Given the description of an element on the screen output the (x, y) to click on. 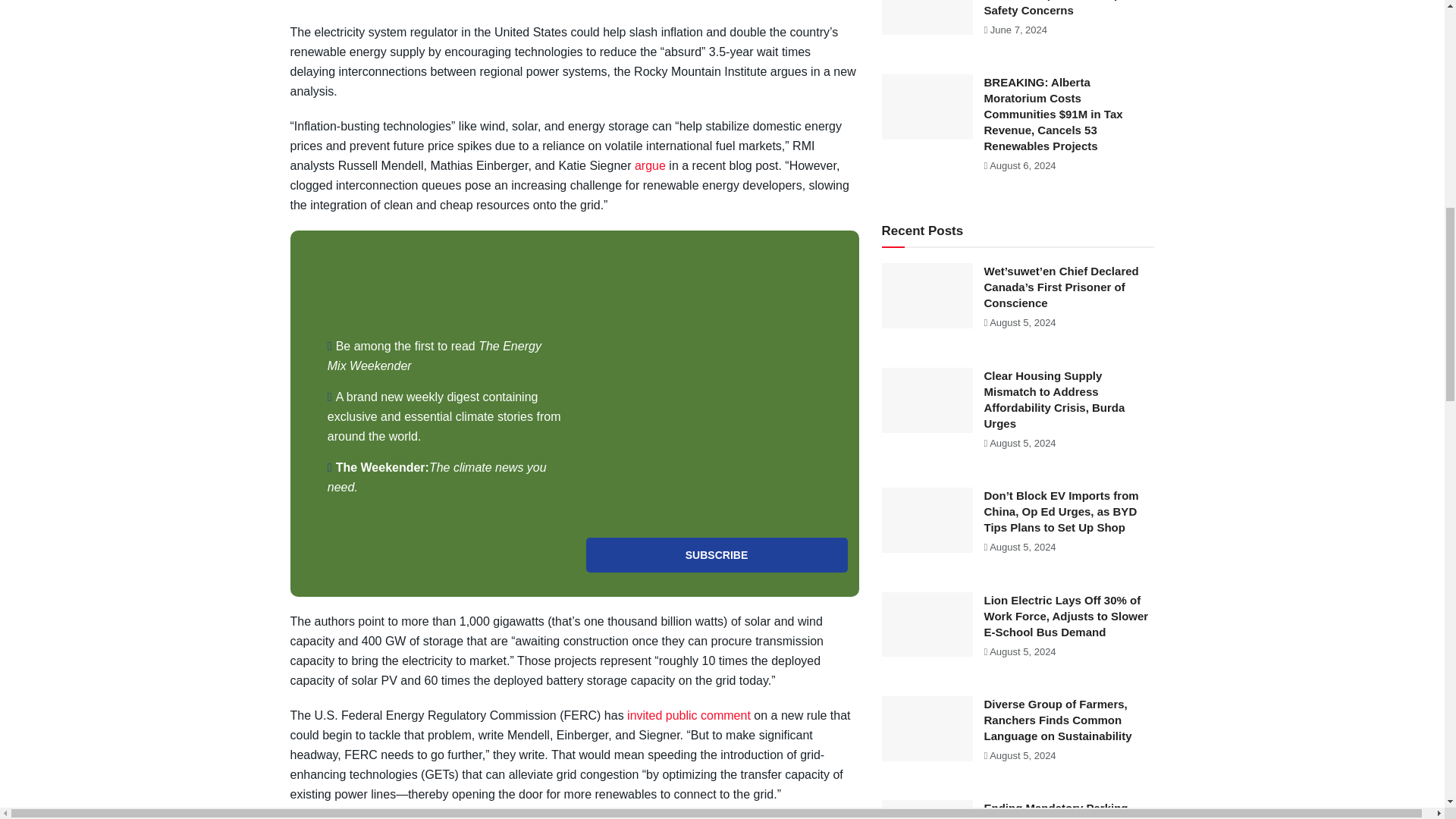
The Energy Mix Weekender (434, 355)
Subscribe (716, 554)
TEM-WeekenderLight (716, 384)
argue (649, 164)
